Given the description of an element on the screen output the (x, y) to click on. 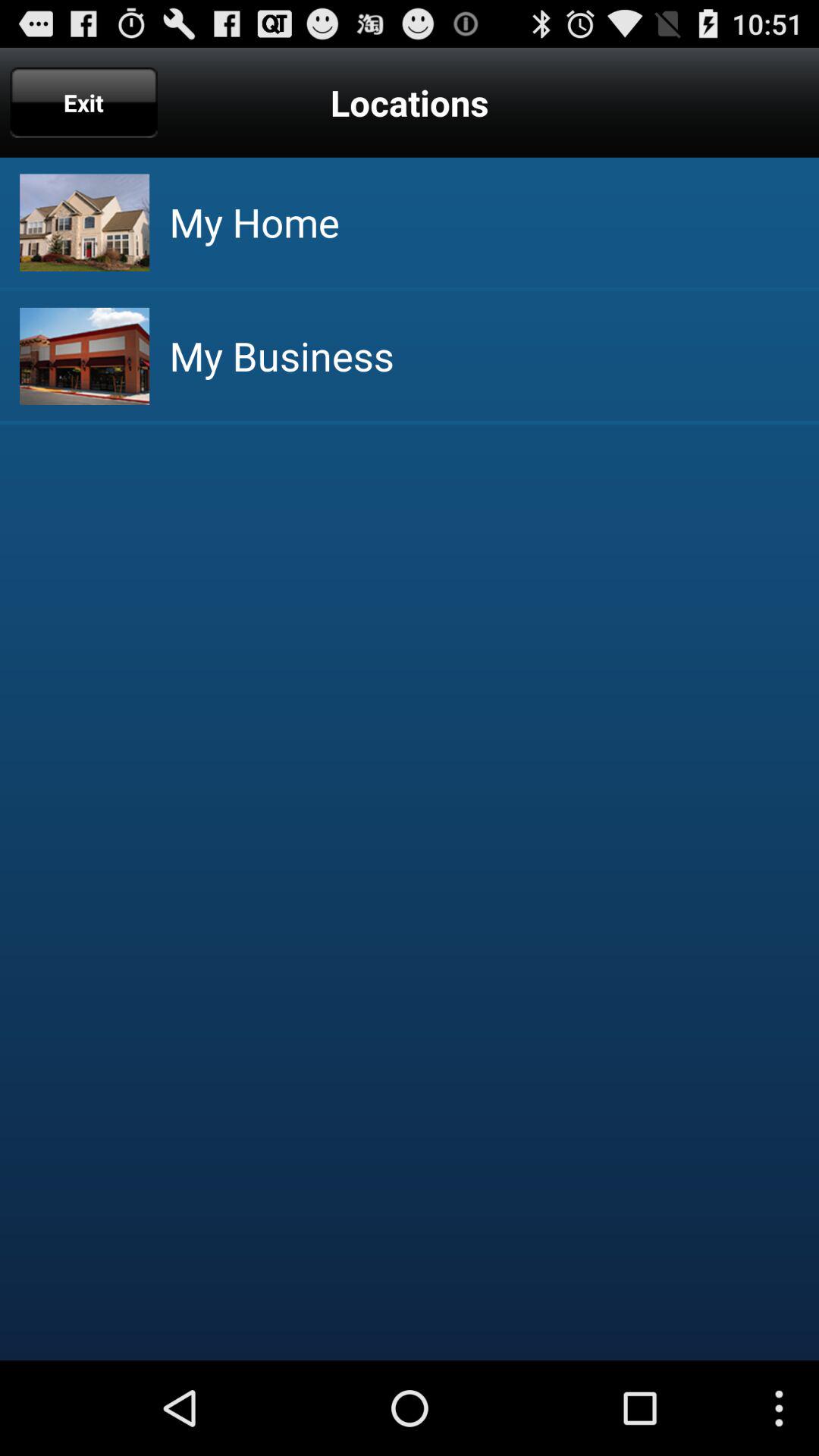
jump until my home item (254, 222)
